Given the description of an element on the screen output the (x, y) to click on. 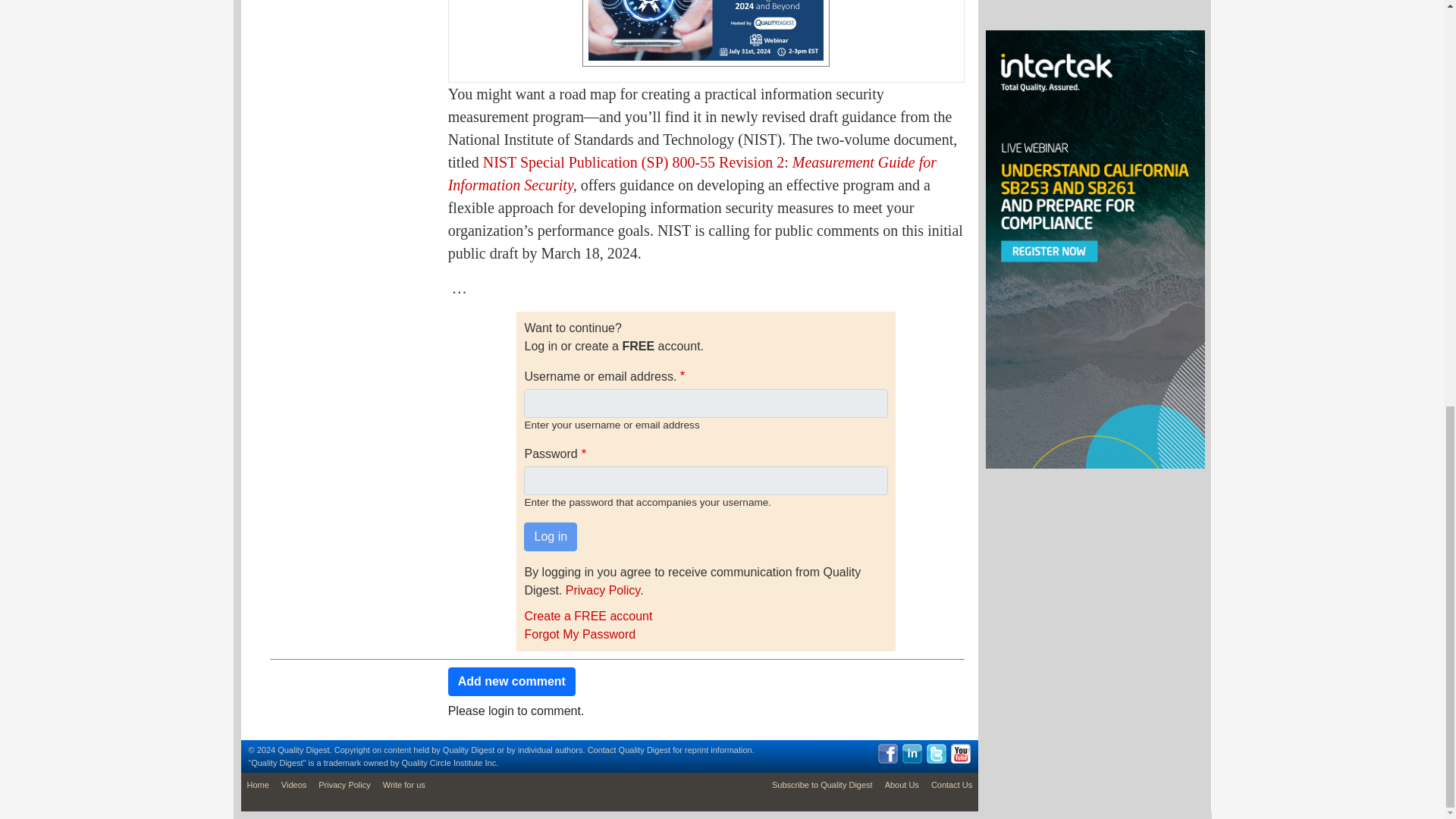
Log in (550, 536)
The Home Page (258, 785)
Subscribe (822, 785)
About Us (901, 785)
